Given the description of an element on the screen output the (x, y) to click on. 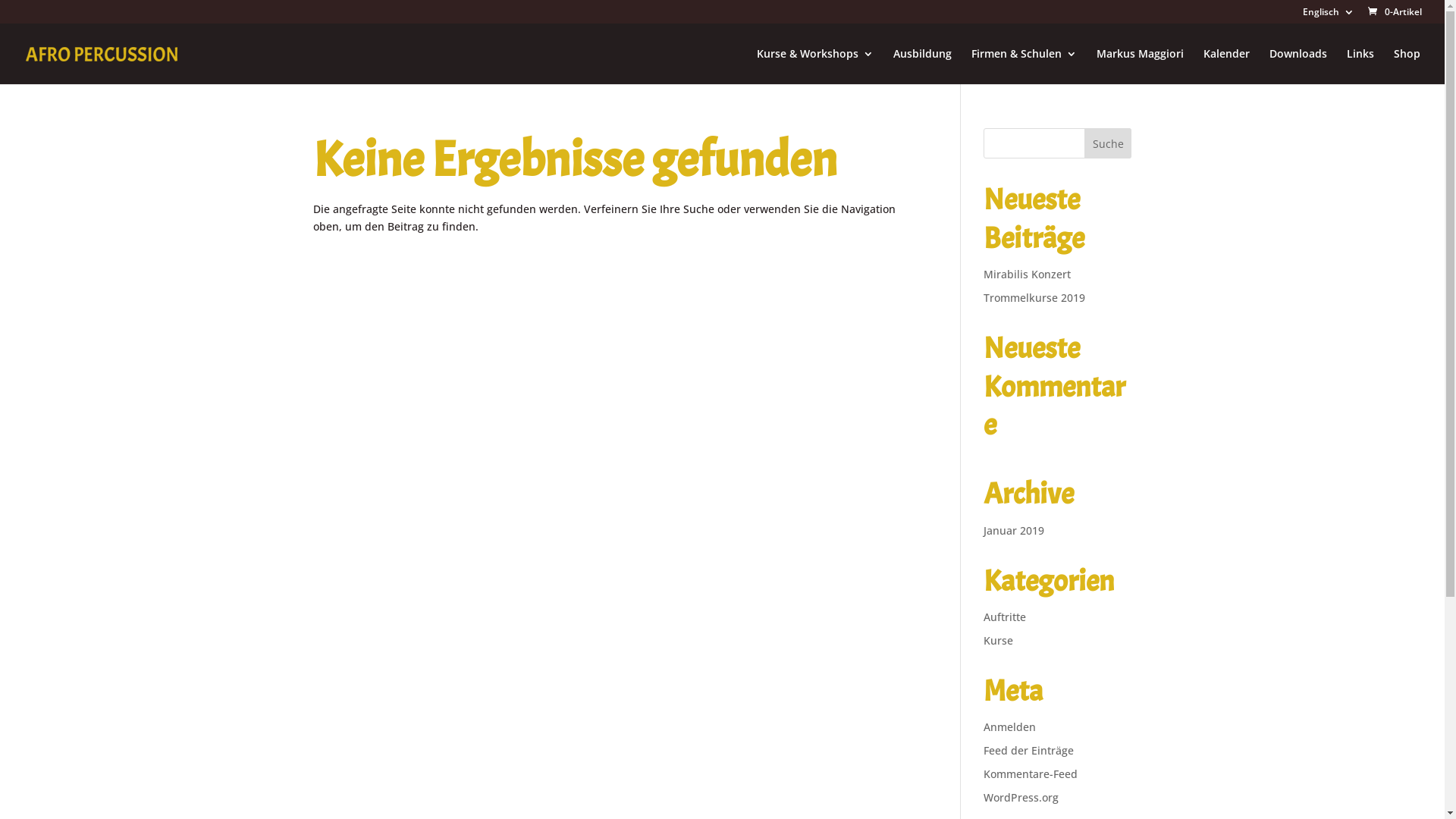
Shop Element type: text (1406, 66)
WordPress.org Element type: text (1020, 797)
Markus Maggiori Element type: text (1139, 66)
Ausbildung Element type: text (922, 66)
Trommelkurse 2019 Element type: text (1034, 297)
Anmelden Element type: text (1009, 726)
Januar 2019 Element type: text (1013, 530)
Suche Element type: text (1108, 143)
Auftritte Element type: text (1004, 616)
Kurse Element type: text (998, 640)
Firmen & Schulen Element type: text (1023, 66)
0-Artikel Element type: text (1393, 11)
Englisch Element type: text (1328, 15)
Kalender Element type: text (1226, 66)
Kurse & Workshops Element type: text (814, 66)
Links Element type: text (1360, 66)
Mirabilis Konzert Element type: text (1026, 273)
Kommentare-Feed Element type: text (1030, 773)
Downloads Element type: text (1298, 66)
